Given the description of an element on the screen output the (x, y) to click on. 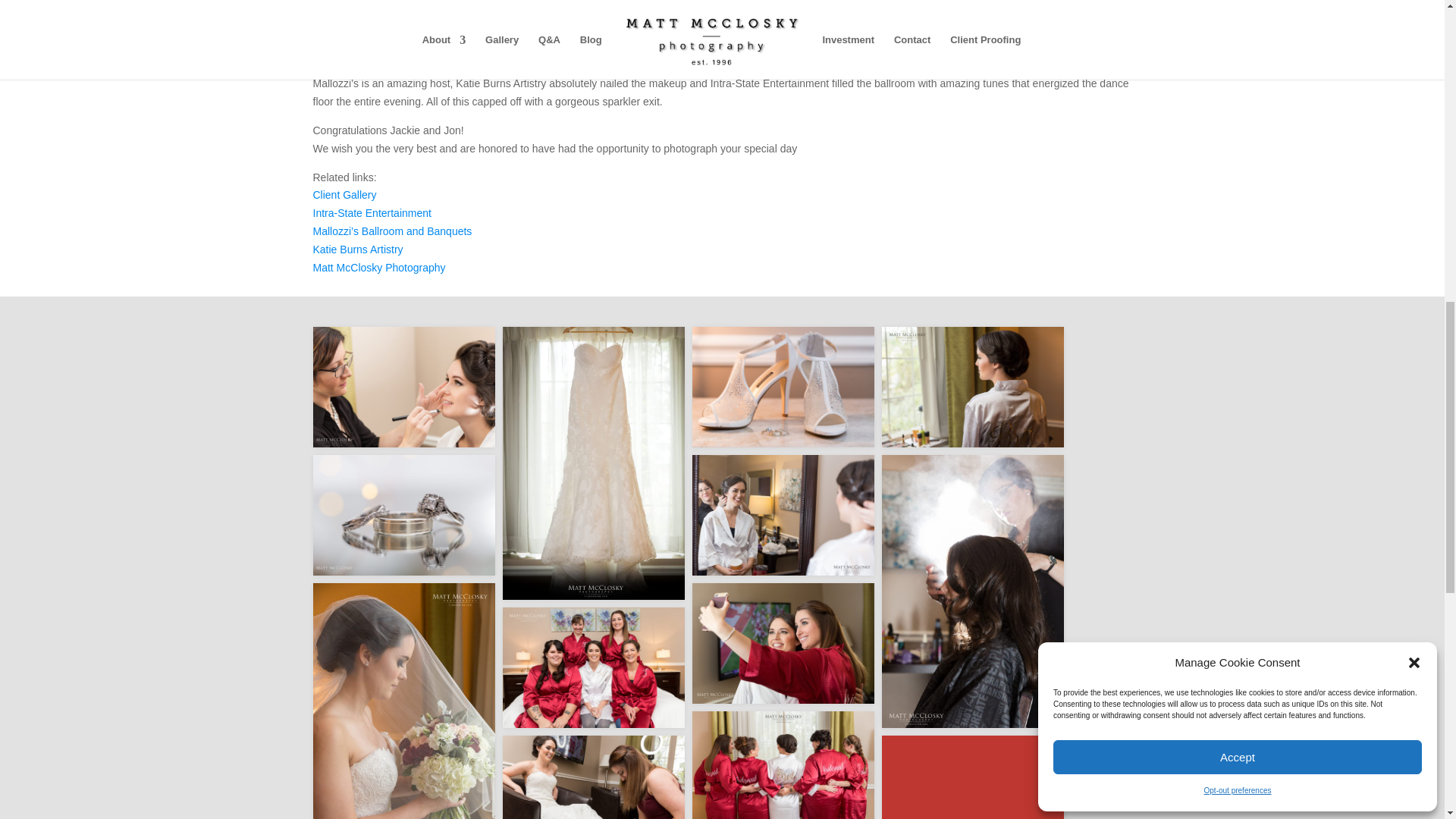
WILLIAMS031 (971, 386)
WILLIAMS007 (404, 386)
WILLIAMS017 (782, 386)
WILLIAMS031 (971, 386)
WILLIAMS011 (404, 515)
WILLIAMS011 (404, 515)
WILLIAMS017 (782, 386)
WILLIAMS007 (404, 386)
